Given the description of an element on the screen output the (x, y) to click on. 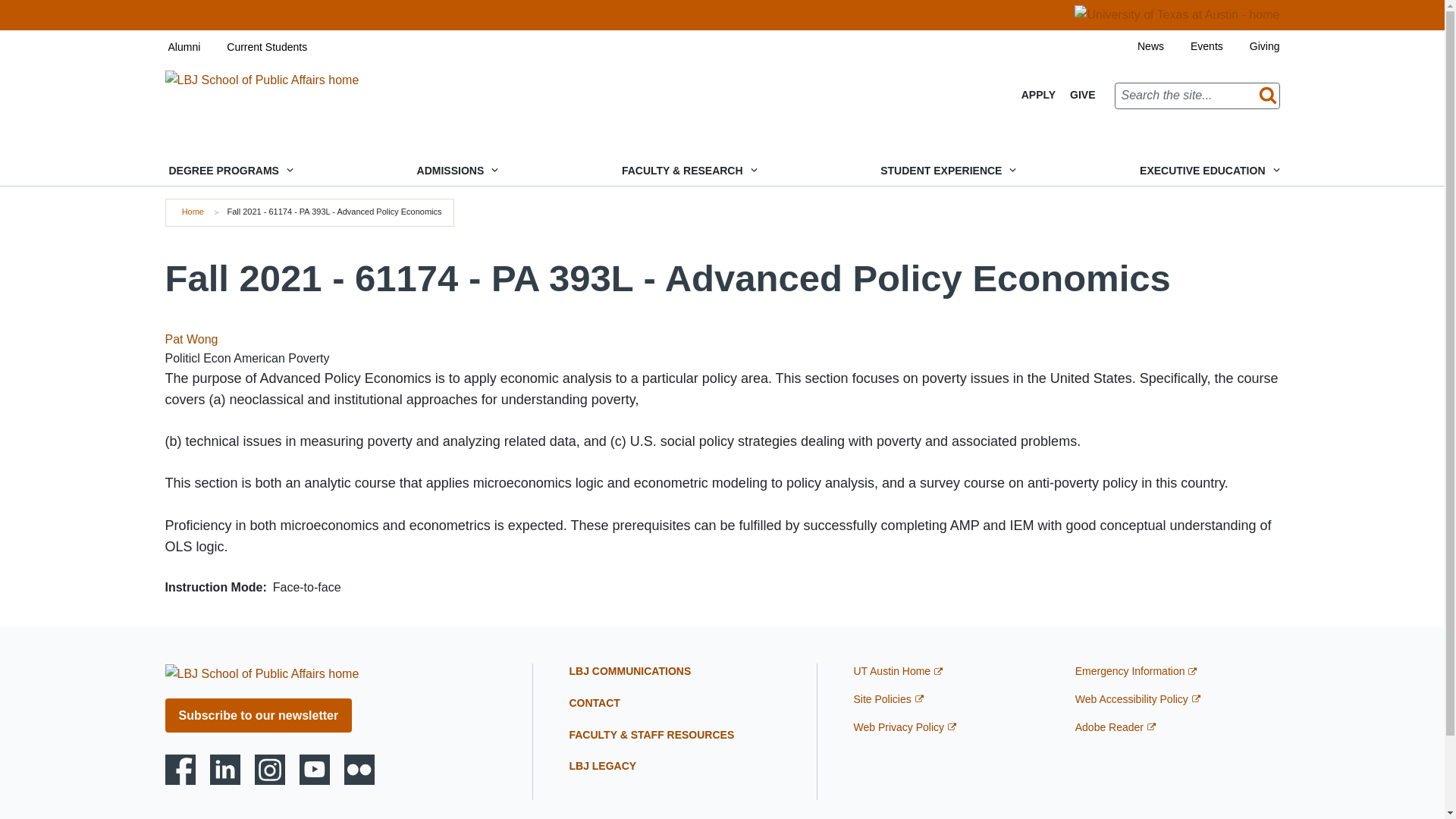
News (1136, 46)
Giving (1251, 46)
Search (1264, 95)
Home (262, 672)
APPLY (1038, 94)
Enter the terms you wish to search for. (1197, 95)
Home (262, 78)
Current Students (253, 46)
GIVE (1082, 94)
InstagramSee us on Instagram (269, 769)
